Given the description of an element on the screen output the (x, y) to click on. 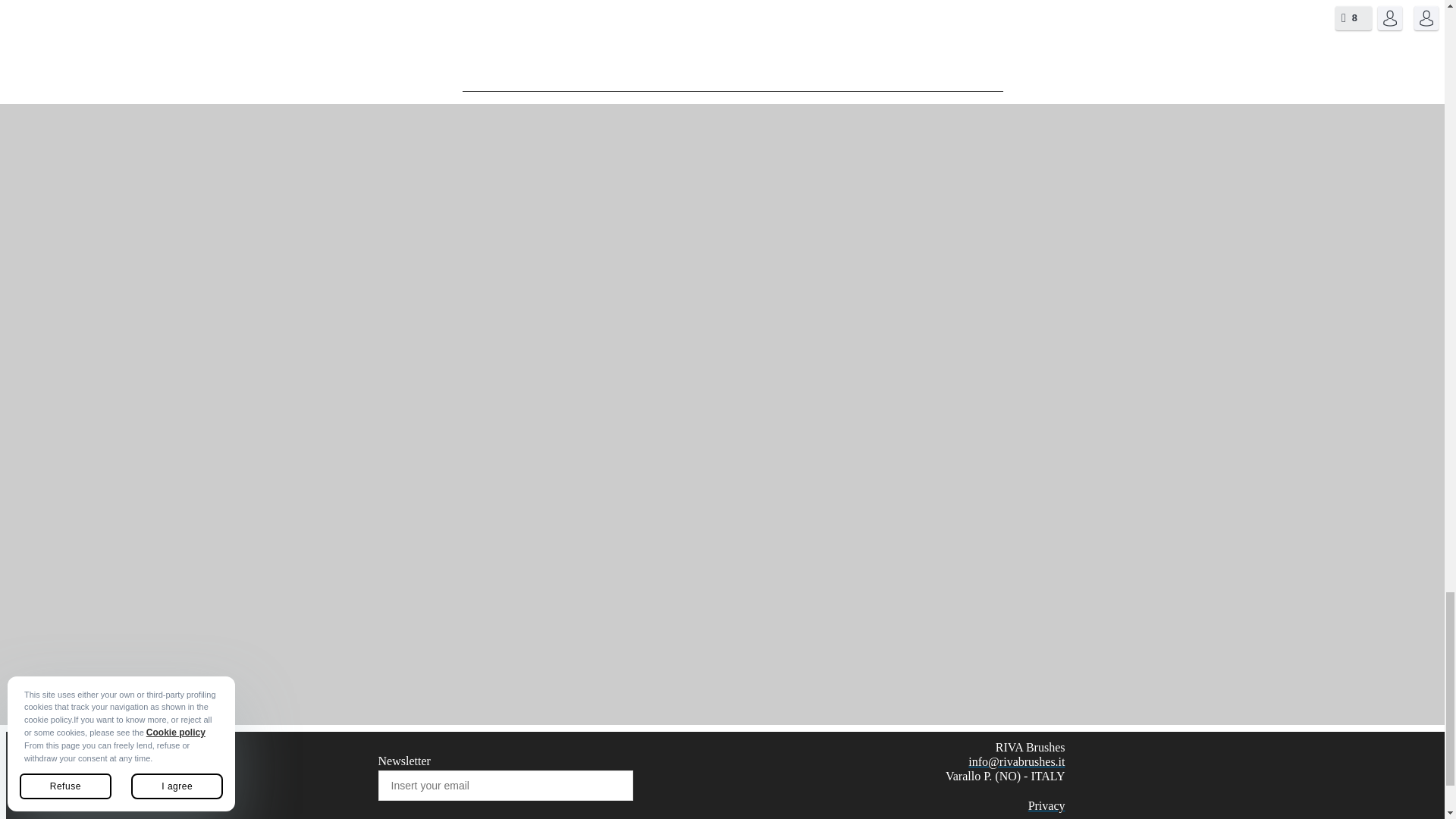
Privacy (1046, 805)
